Given the description of an element on the screen output the (x, y) to click on. 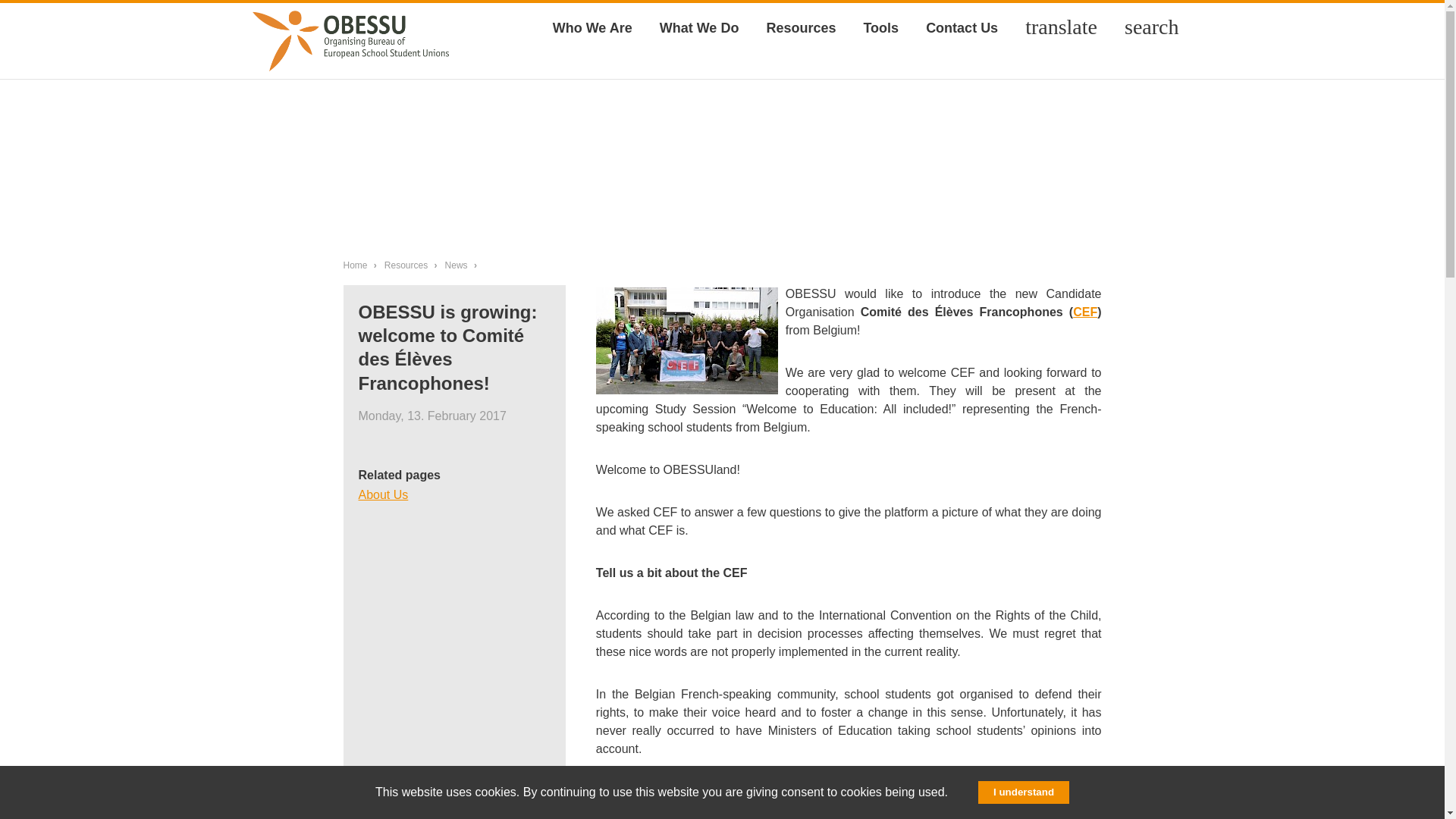
Resources (800, 27)
Contact Us (962, 27)
translate (1061, 27)
Tools (880, 27)
to the OBESSU homepage (349, 37)
Who We Are (592, 27)
search (1151, 27)
What We Do (699, 27)
